Given the description of an element on the screen output the (x, y) to click on. 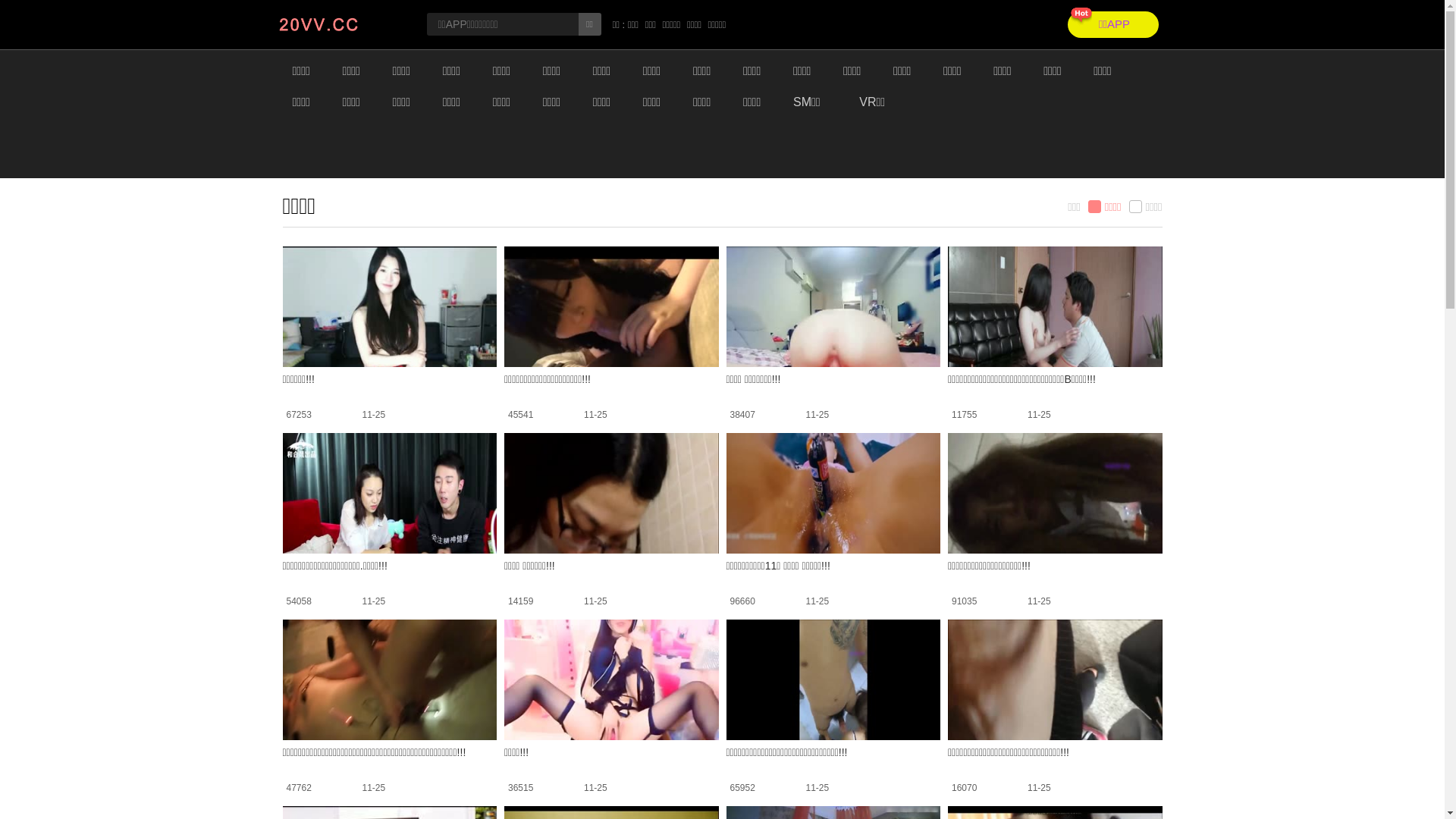
static/images/logo.jpg Element type: text (340, 24)
